Given the description of an element on the screen output the (x, y) to click on. 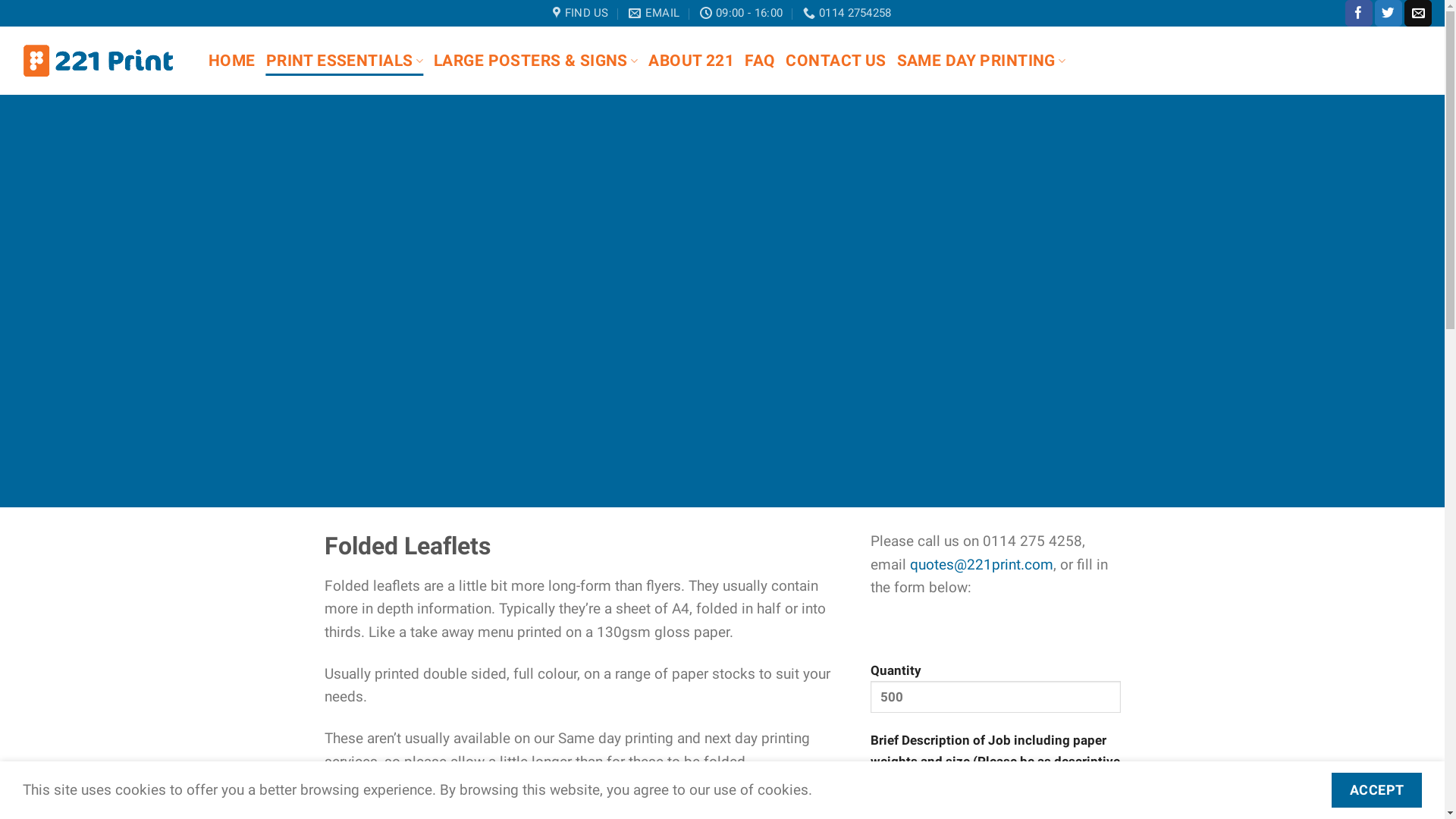
Brochures Element type: text (763, 803)
ABOUT 221 Element type: text (691, 60)
Follow on Facebook Element type: hover (1358, 13)
FAQ Element type: text (759, 60)
HOME Element type: text (231, 60)
FIND US Element type: text (580, 12)
PRINT ESSENTIALS Element type: text (344, 60)
ACCEPT Element type: text (1376, 789)
Follow on Twitter Element type: hover (1388, 13)
EMAIL Element type: text (653, 12)
CONTACT US Element type: text (835, 60)
SAME DAY PRINTING Element type: text (981, 60)
quotes@221print.com Element type: text (981, 564)
0114 2754258 Element type: text (847, 12)
3-panel A4 pamphlets Element type: text (640, 803)
LARGE POSTERS & SIGNS Element type: text (535, 60)
Send us an email Element type: hover (1417, 13)
09:00 - 16:00 Element type: text (740, 12)
